Given the description of an element on the screen output the (x, y) to click on. 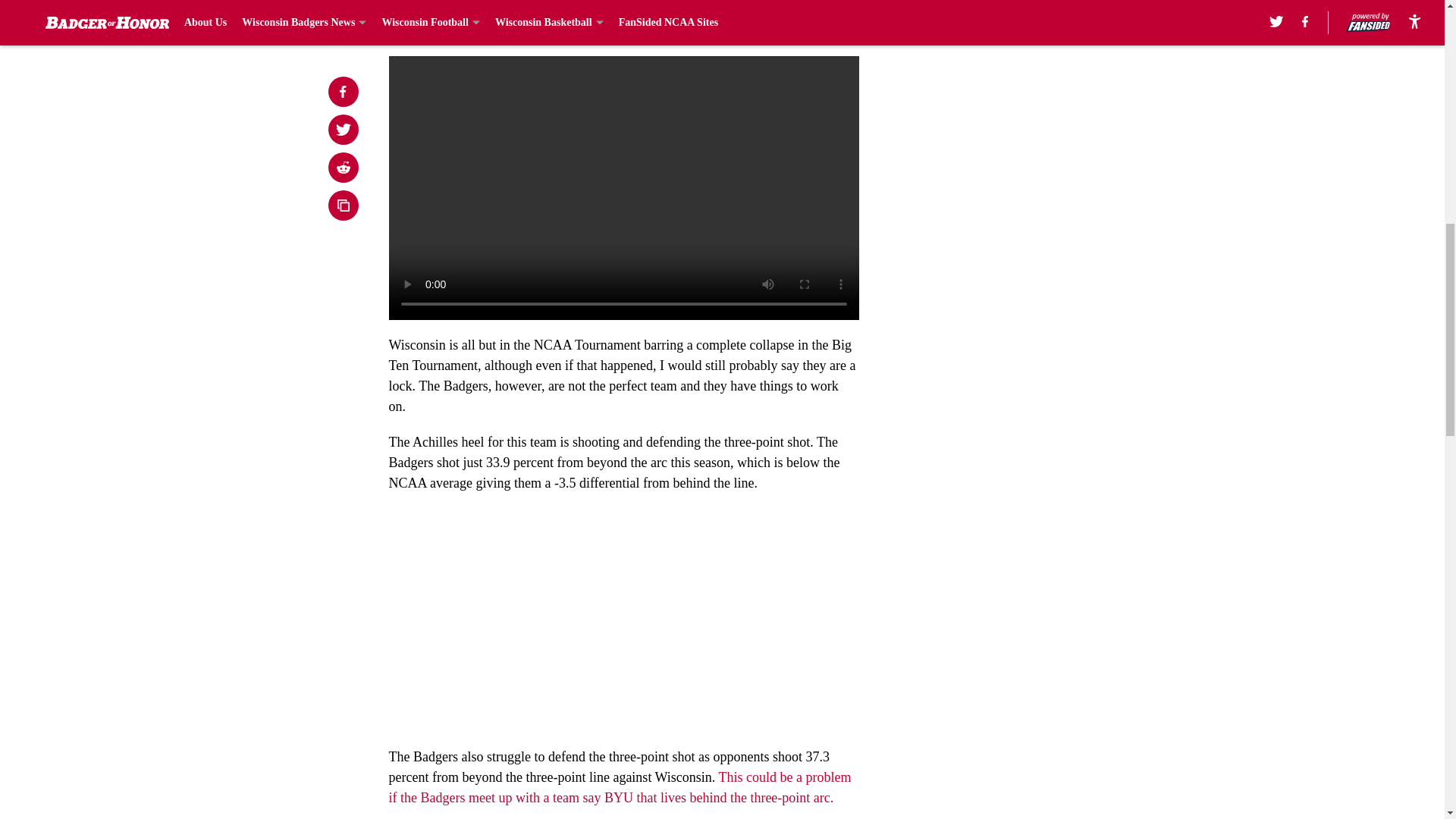
3rd party ad content (1047, 371)
3rd party ad content (1047, 150)
